Given the description of an element on the screen output the (x, y) to click on. 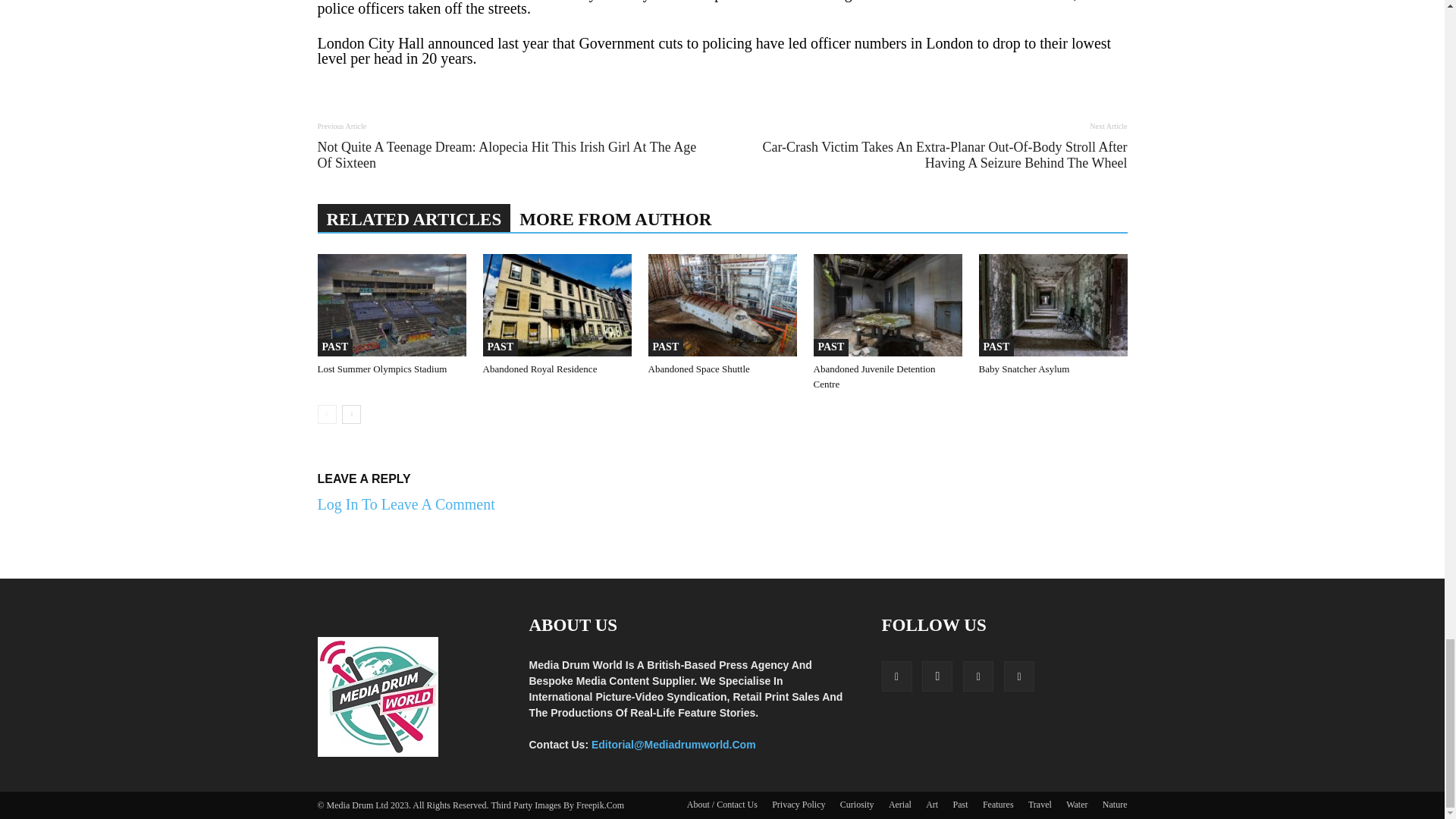
bottomFacebookLike (430, 105)
